Given the description of an element on the screen output the (x, y) to click on. 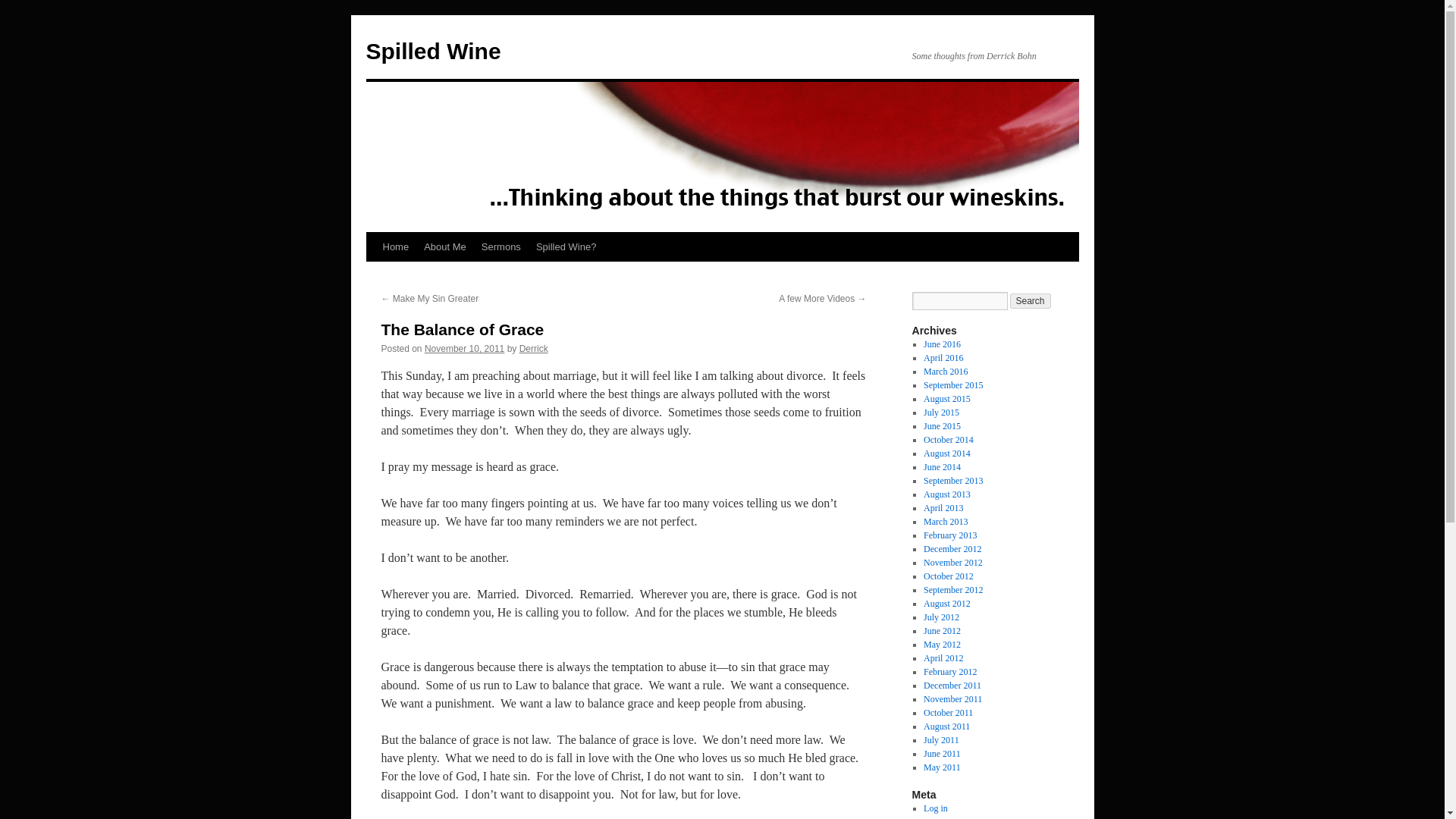
July 2015 (941, 412)
November 10, 2011 (464, 348)
October 2014 (948, 439)
November 2012 (952, 562)
September 2012 (952, 589)
September 2015 (952, 385)
7:00 pm (464, 348)
October 2012 (948, 575)
Spilled Wine (432, 50)
April 2016 (942, 357)
